Given the description of an element on the screen output the (x, y) to click on. 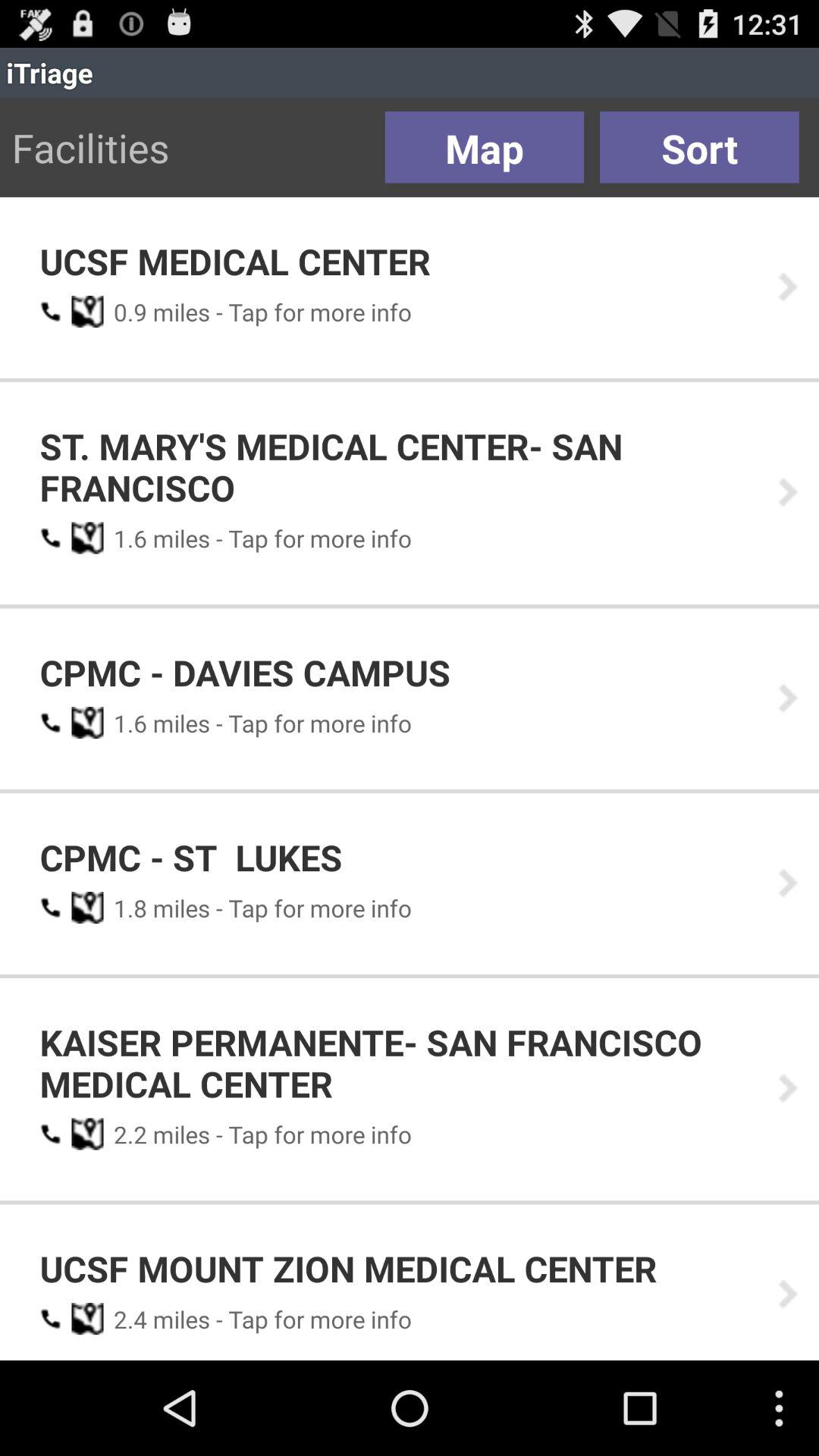
choose sort app (699, 147)
